Given the description of an element on the screen output the (x, y) to click on. 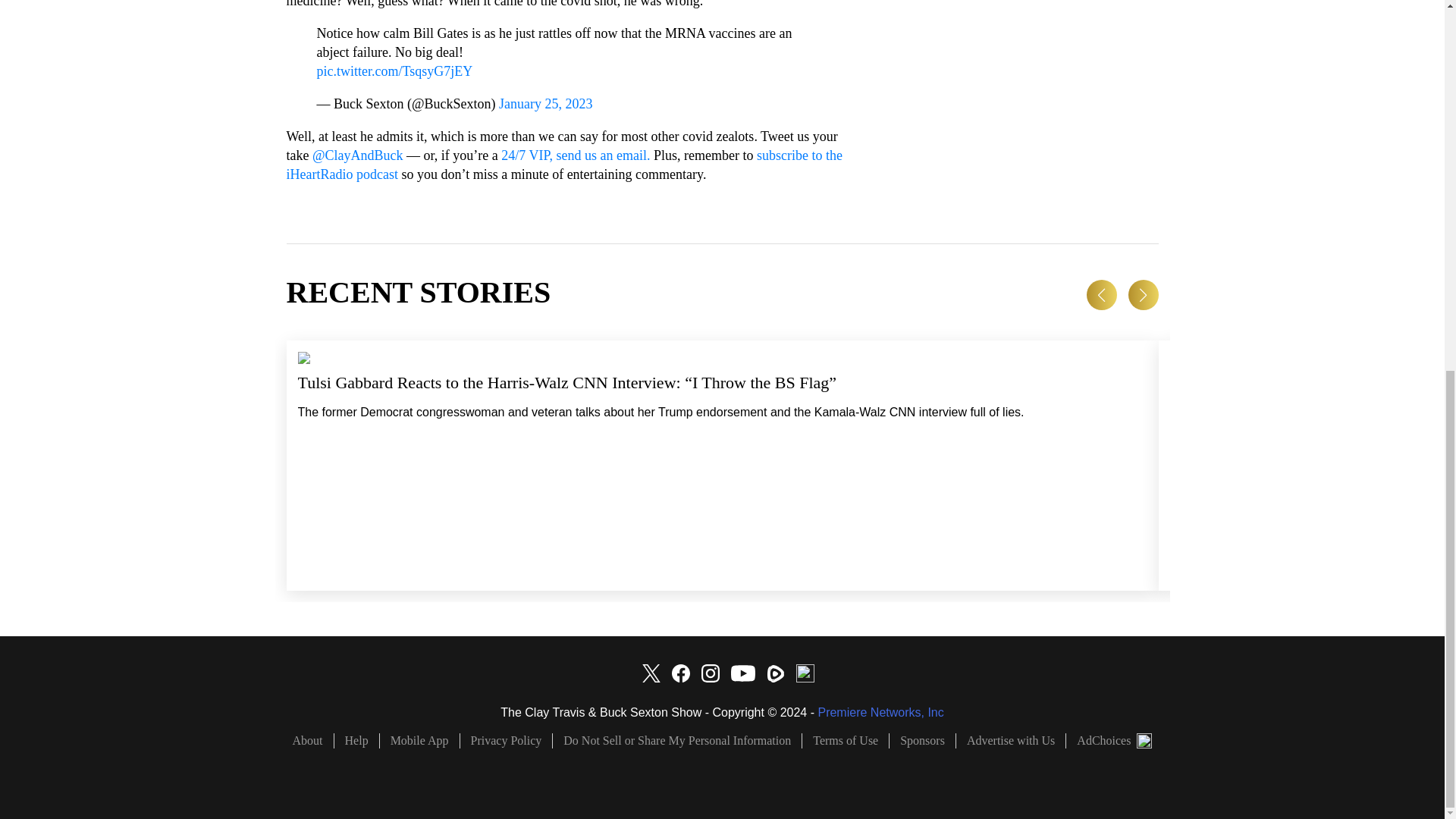
About (313, 740)
Premiere Networks, Inc (879, 712)
subscribe to the iHeartRadio podcast (564, 164)
Help (357, 740)
January 25, 2023 (545, 103)
